Given the description of an element on the screen output the (x, y) to click on. 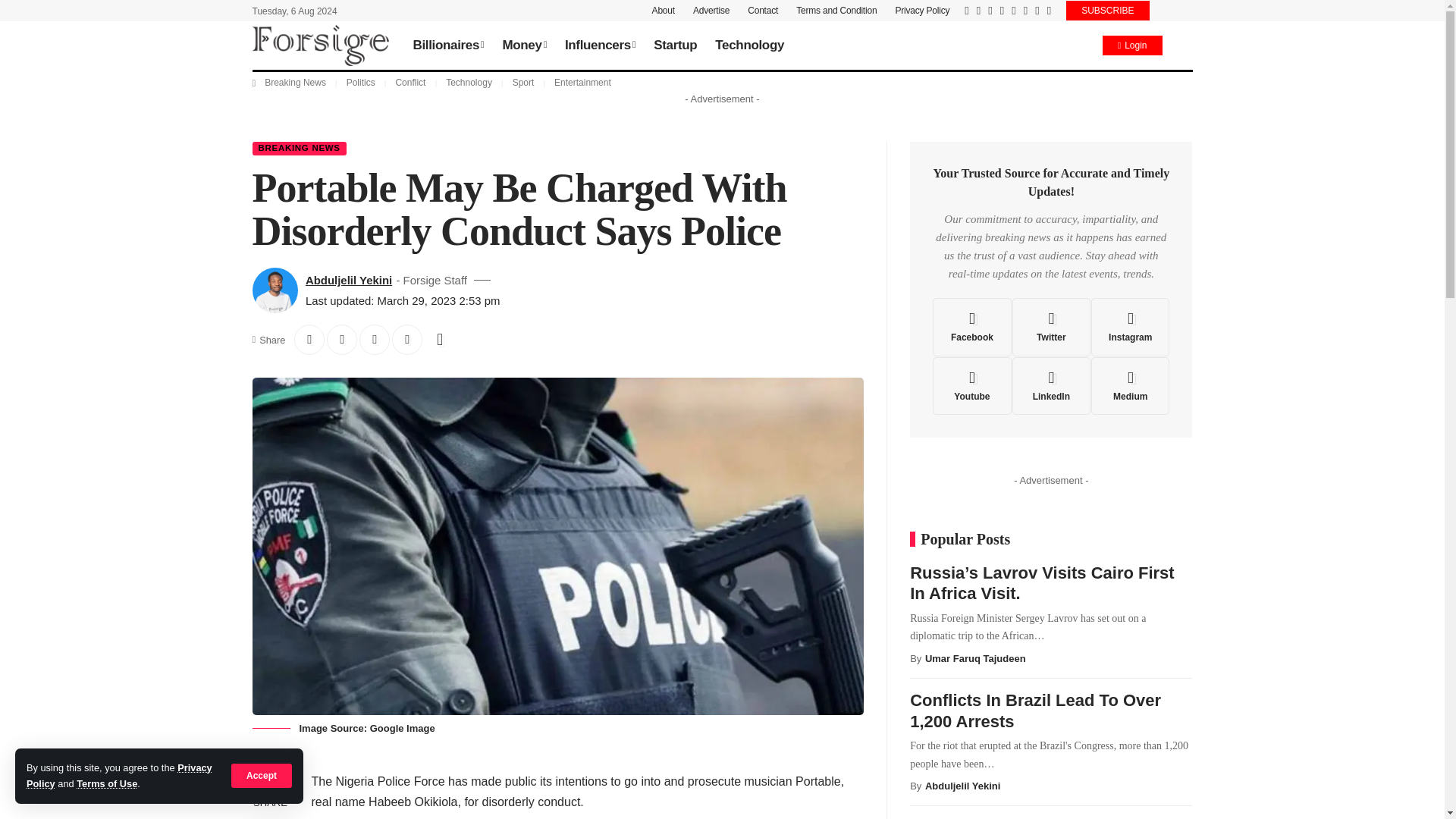
SUBSCRIBE (1106, 10)
Privacy Policy (119, 775)
Billionaires (448, 45)
Privacy Policy (922, 10)
Terms and Condition (836, 10)
Money (523, 45)
Contact (762, 10)
About (663, 10)
Advertise (711, 10)
Accept (261, 775)
